Given the description of an element on the screen output the (x, y) to click on. 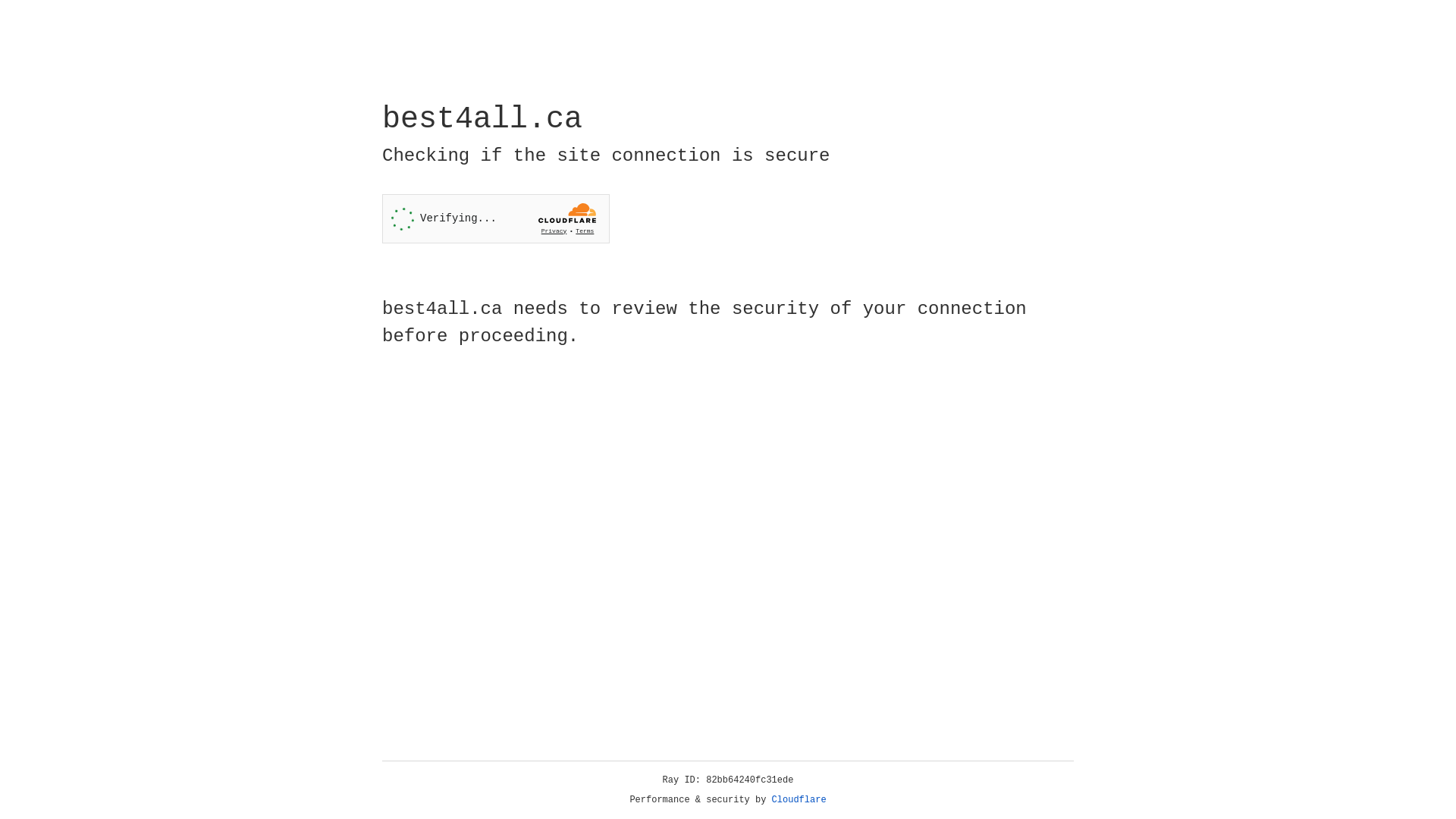
Widget containing a Cloudflare security challenge Element type: hover (495, 218)
Cloudflare Element type: text (798, 799)
